Given the description of an element on the screen output the (x, y) to click on. 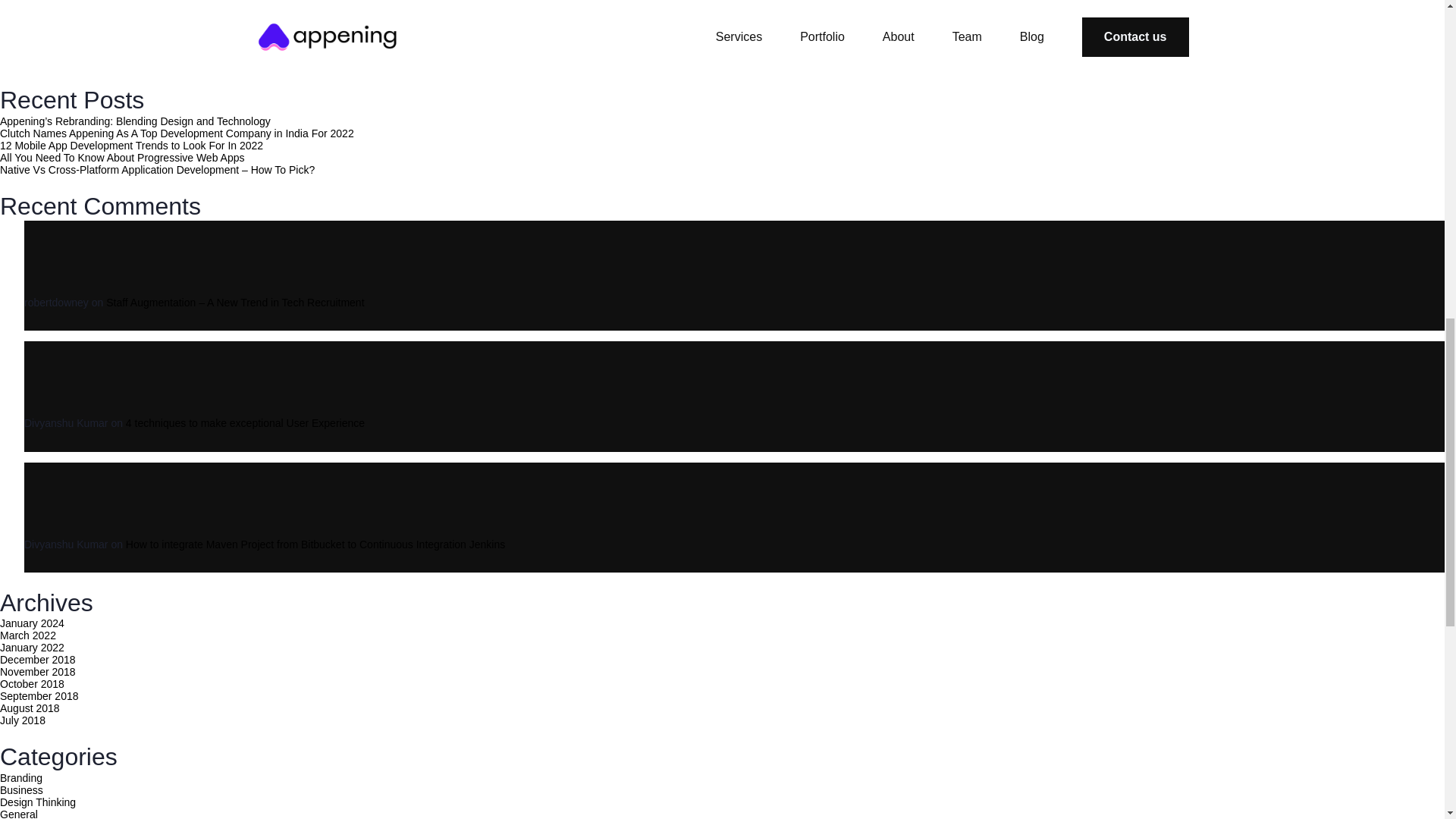
March 2022 (28, 635)
November 2018 (37, 671)
August 2018 (29, 707)
January 2024 (32, 623)
January 2022 (32, 647)
Branding (21, 777)
July 2018 (22, 720)
All You Need To Know About Progressive Web Apps (122, 157)
General (18, 813)
